Given the description of an element on the screen output the (x, y) to click on. 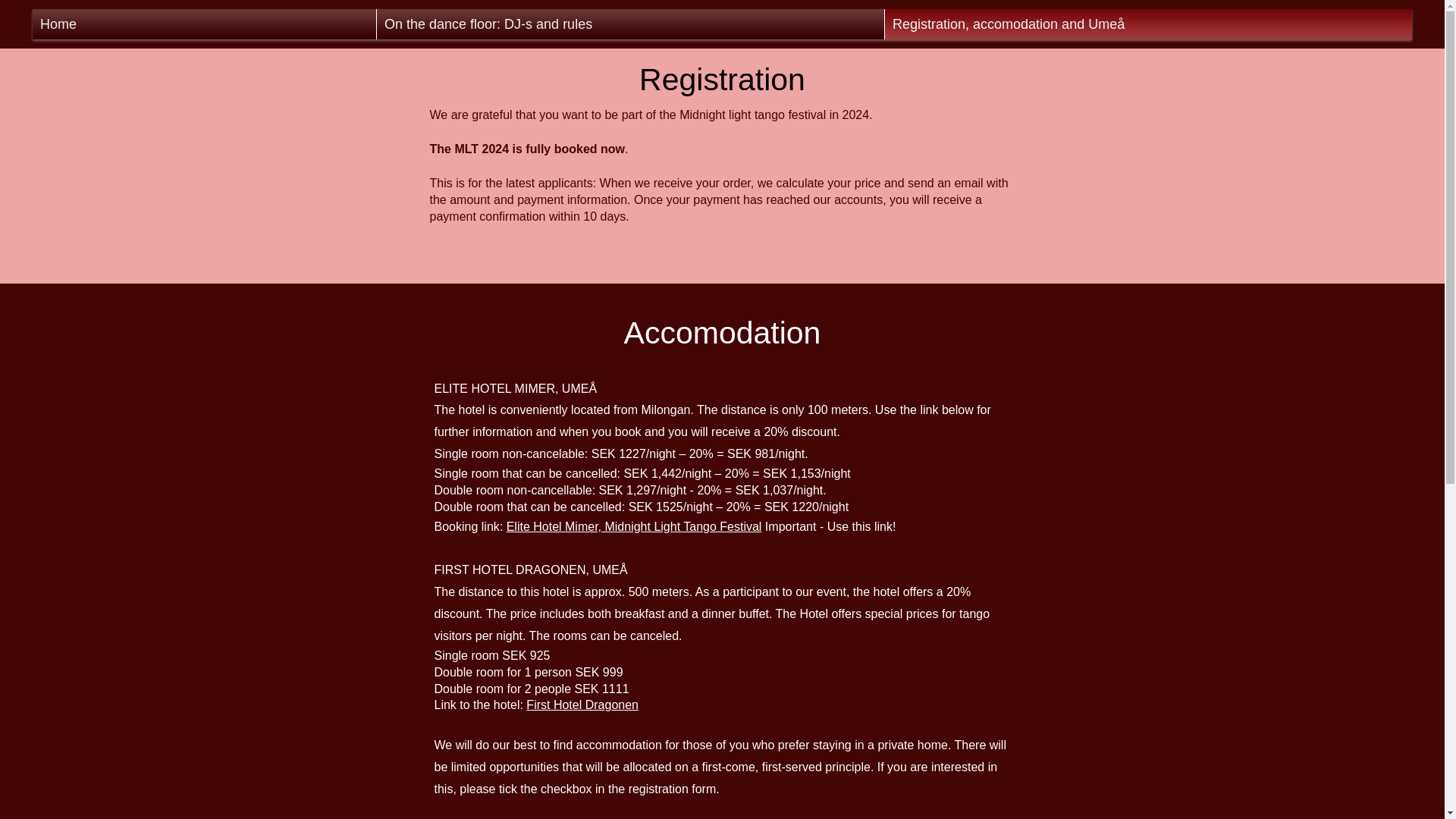
On the dance floor: DJ-s and rules (630, 24)
Home (203, 24)
First Hotel Dragonen (582, 704)
Elite Hotel Mimer, Midnight Light Tango Festival (633, 526)
